Given the description of an element on the screen output the (x, y) to click on. 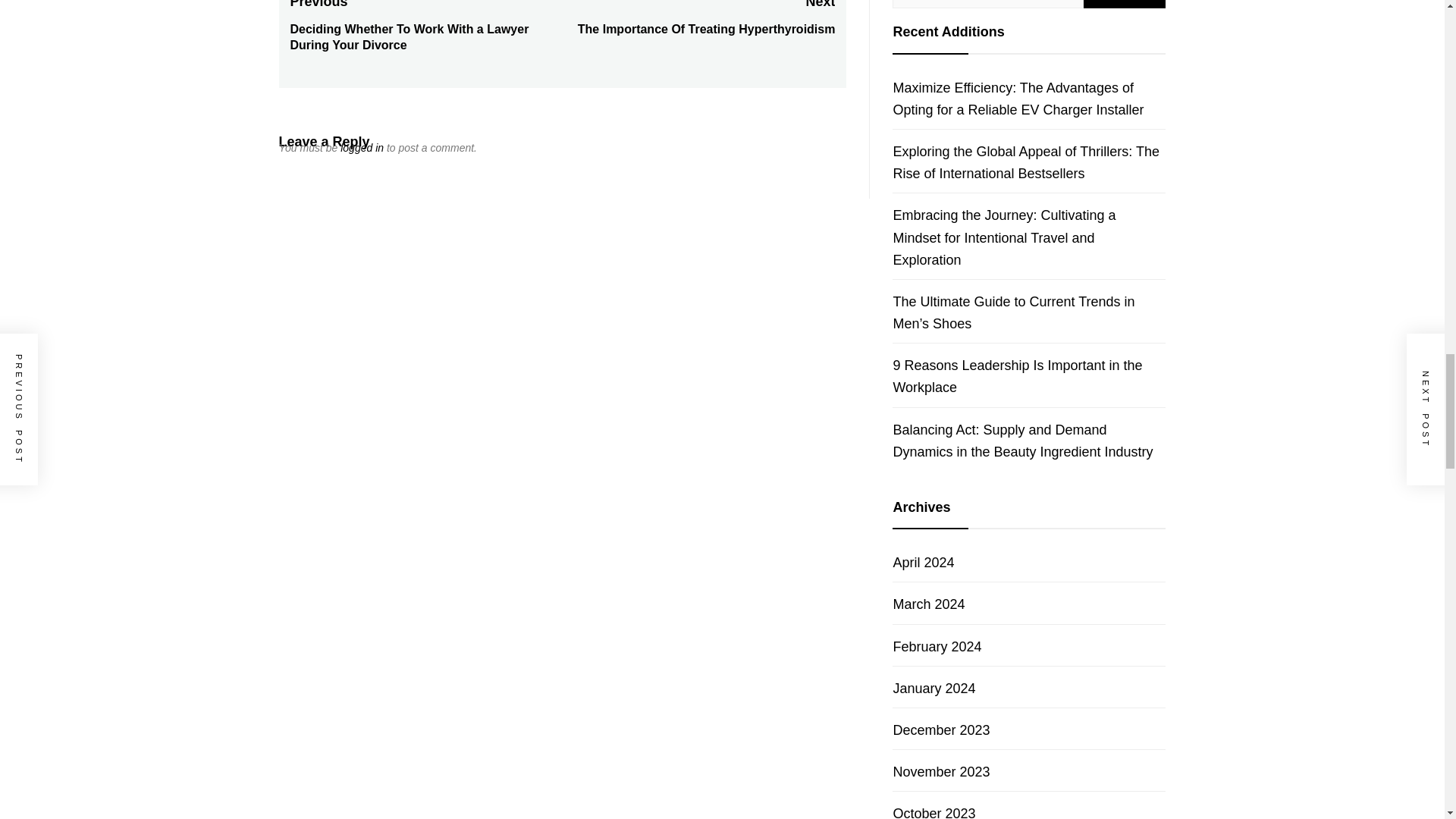
Search (1124, 4)
logged in (362, 147)
Search (1124, 4)
Search (1124, 4)
